Given the description of an element on the screen output the (x, y) to click on. 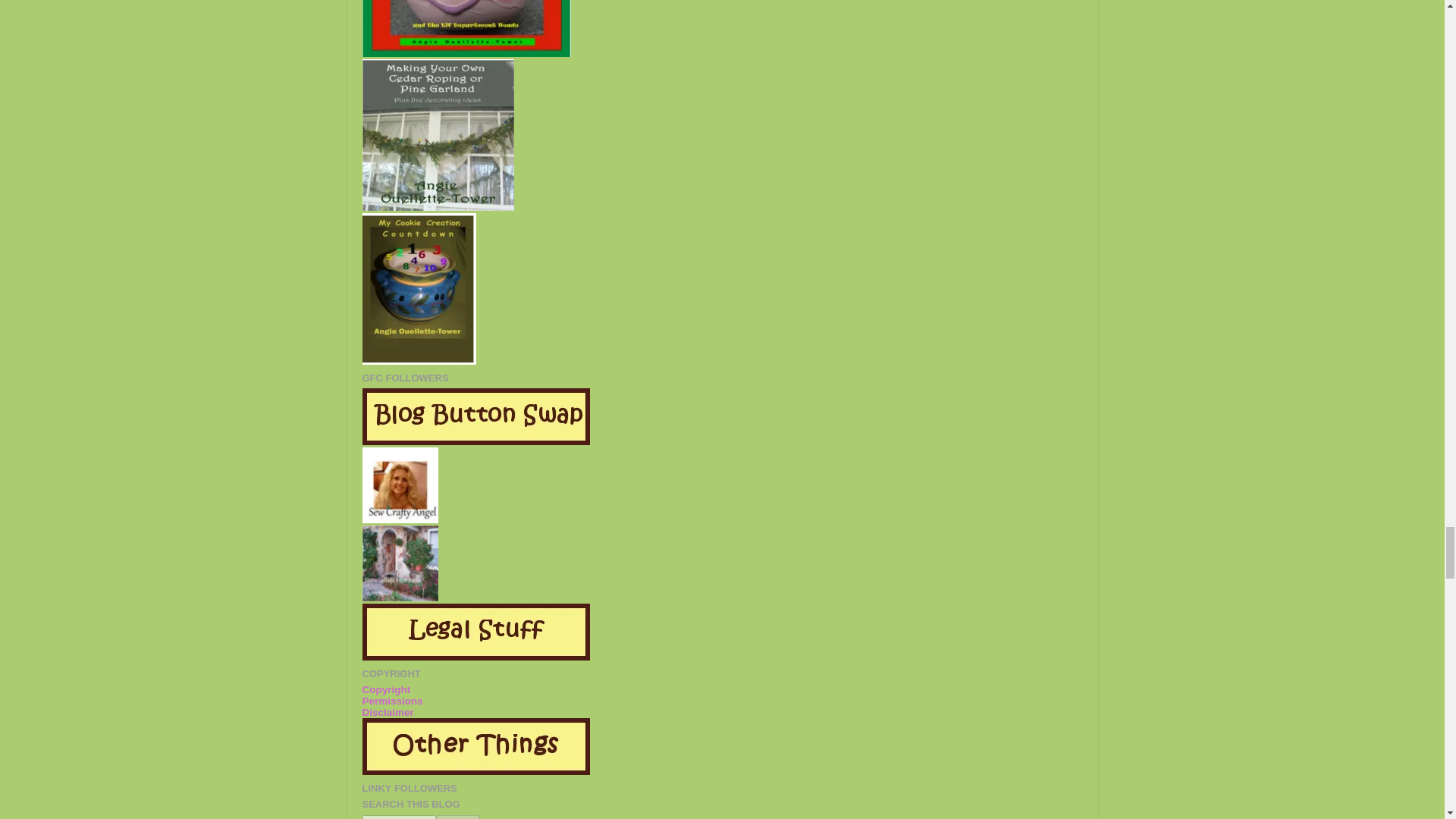
Search (457, 816)
search (398, 816)
Search (457, 816)
